Given the description of an element on the screen output the (x, y) to click on. 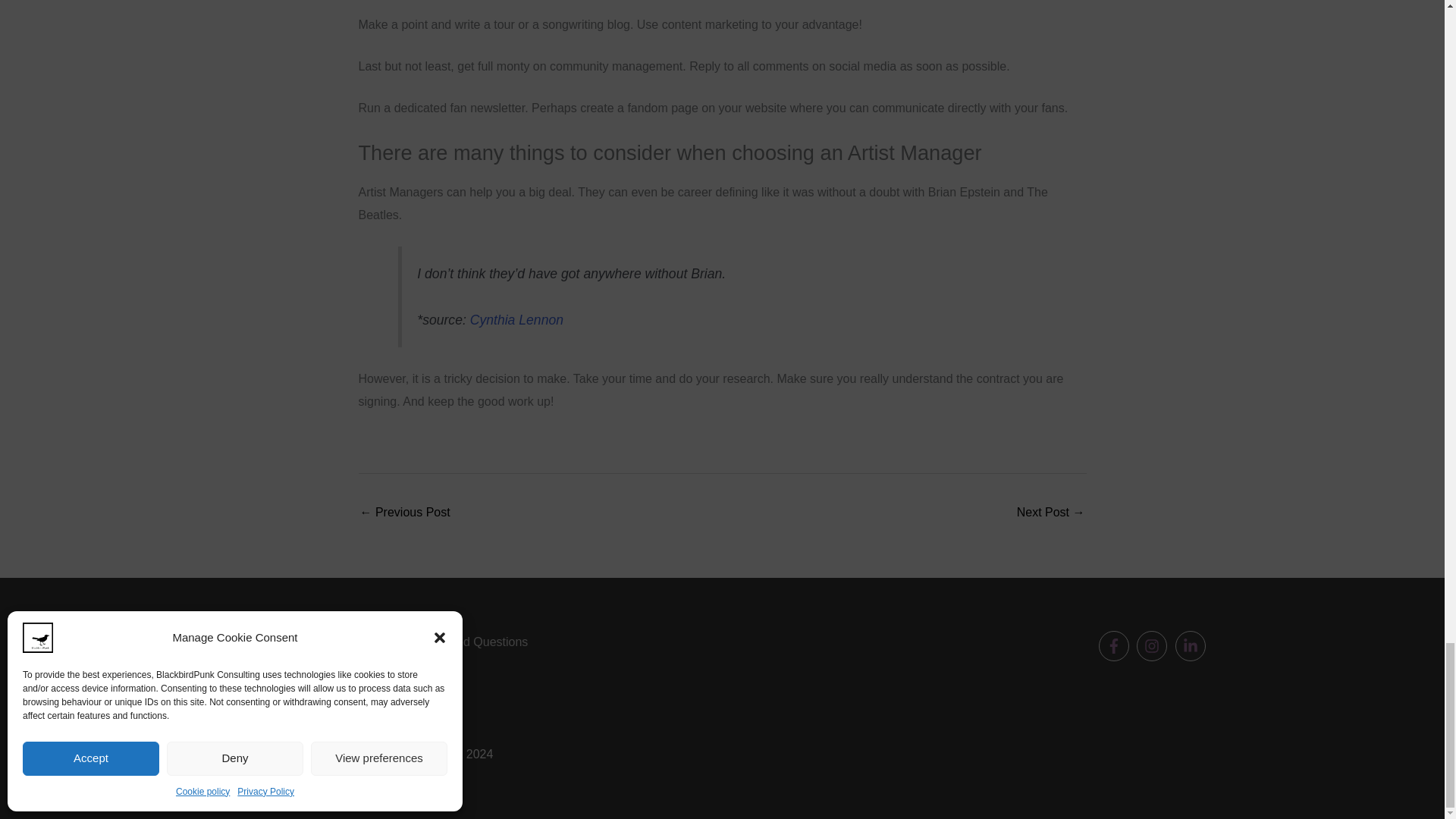
Privacy Policy (413, 686)
SEO Glossary (404, 512)
Cookie Policy (412, 708)
5 Unexpected Uses Of Music (1050, 512)
Cynthia Lennon (516, 319)
Frequently Asked Questions (451, 641)
